Given the description of an element on the screen output the (x, y) to click on. 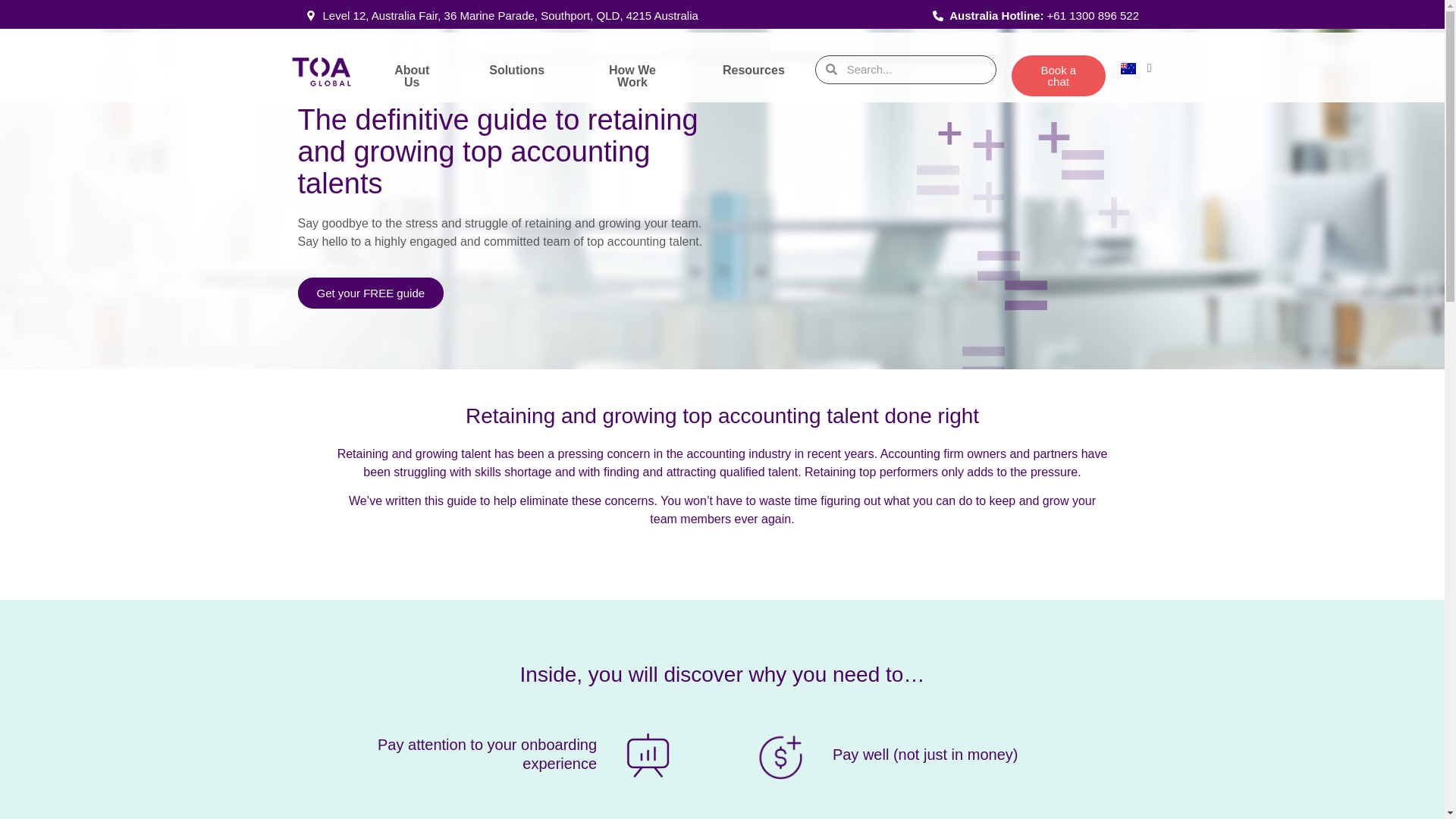
Solutions (516, 69)
About Us (411, 75)
Resources (753, 69)
How We Work (631, 75)
